Given the description of an element on the screen output the (x, y) to click on. 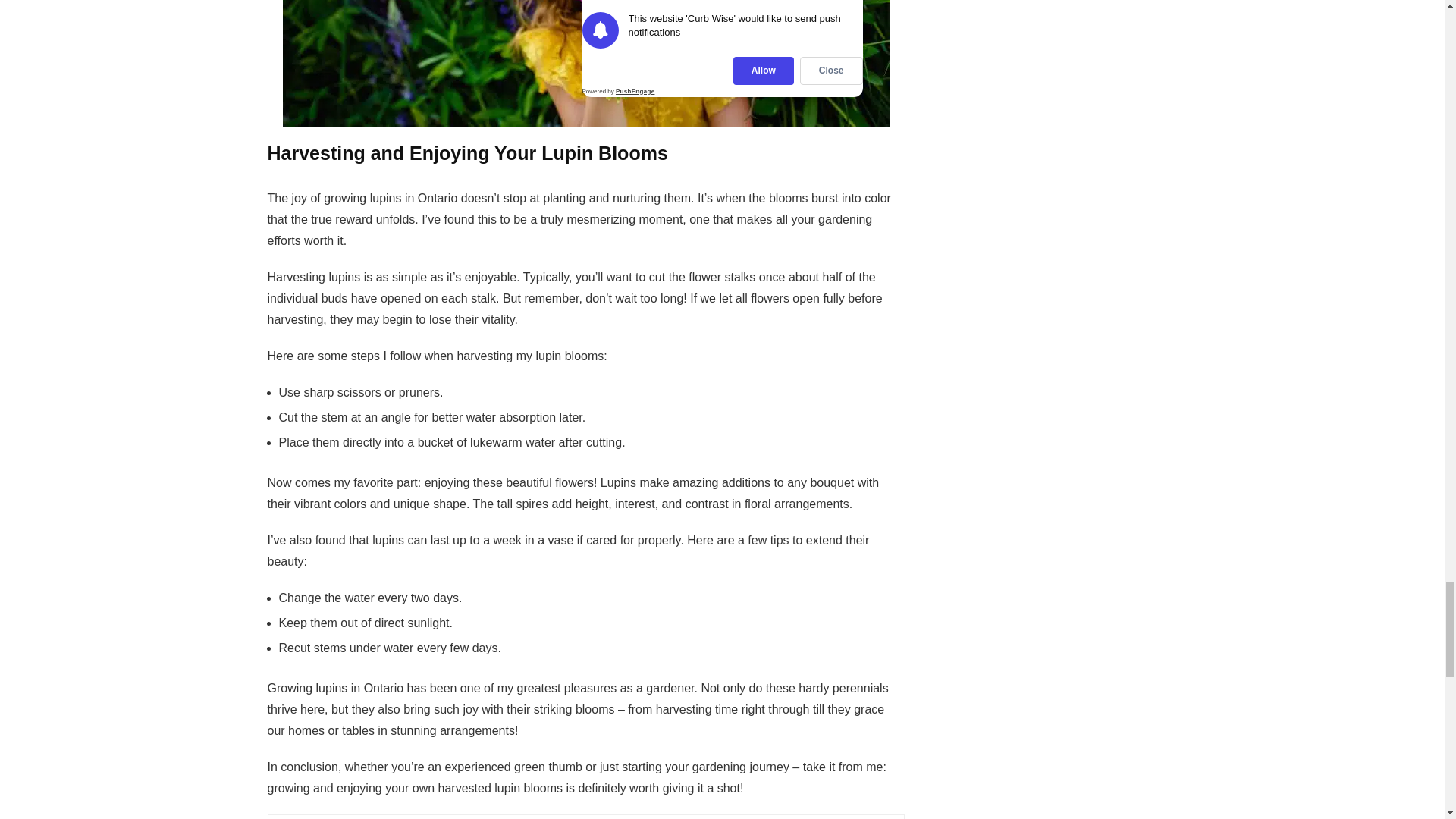
Growing Lupins in Ontario: My Expert Tips for Success 3 (585, 63)
